Given the description of an element on the screen output the (x, y) to click on. 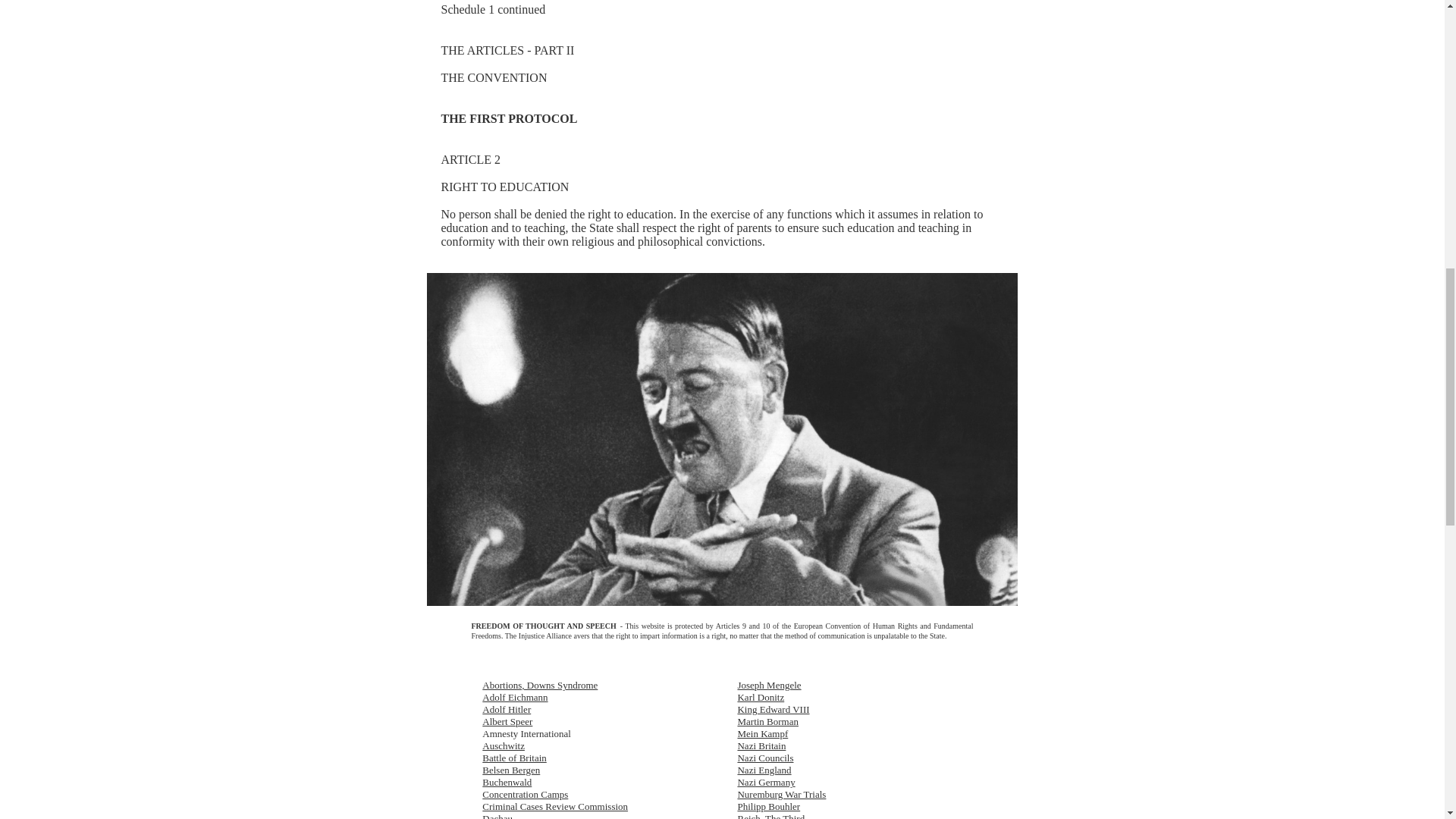
Criminal Cases Review Commission (554, 806)
Adolf Hitler (506, 708)
Buchenwald (506, 781)
Martin Borman (766, 721)
Dachau (496, 816)
Abortions, Downs Syndrome (538, 685)
Concentration Camps (524, 794)
Adolf Eichmann (514, 696)
Joseph Mengele (768, 685)
Albert Speer (506, 721)
King Edward VIII (772, 708)
Battle of Britain (513, 757)
Belsen Bergen (510, 769)
Auschwitz (502, 745)
Karl Donitz (760, 696)
